Given the description of an element on the screen output the (x, y) to click on. 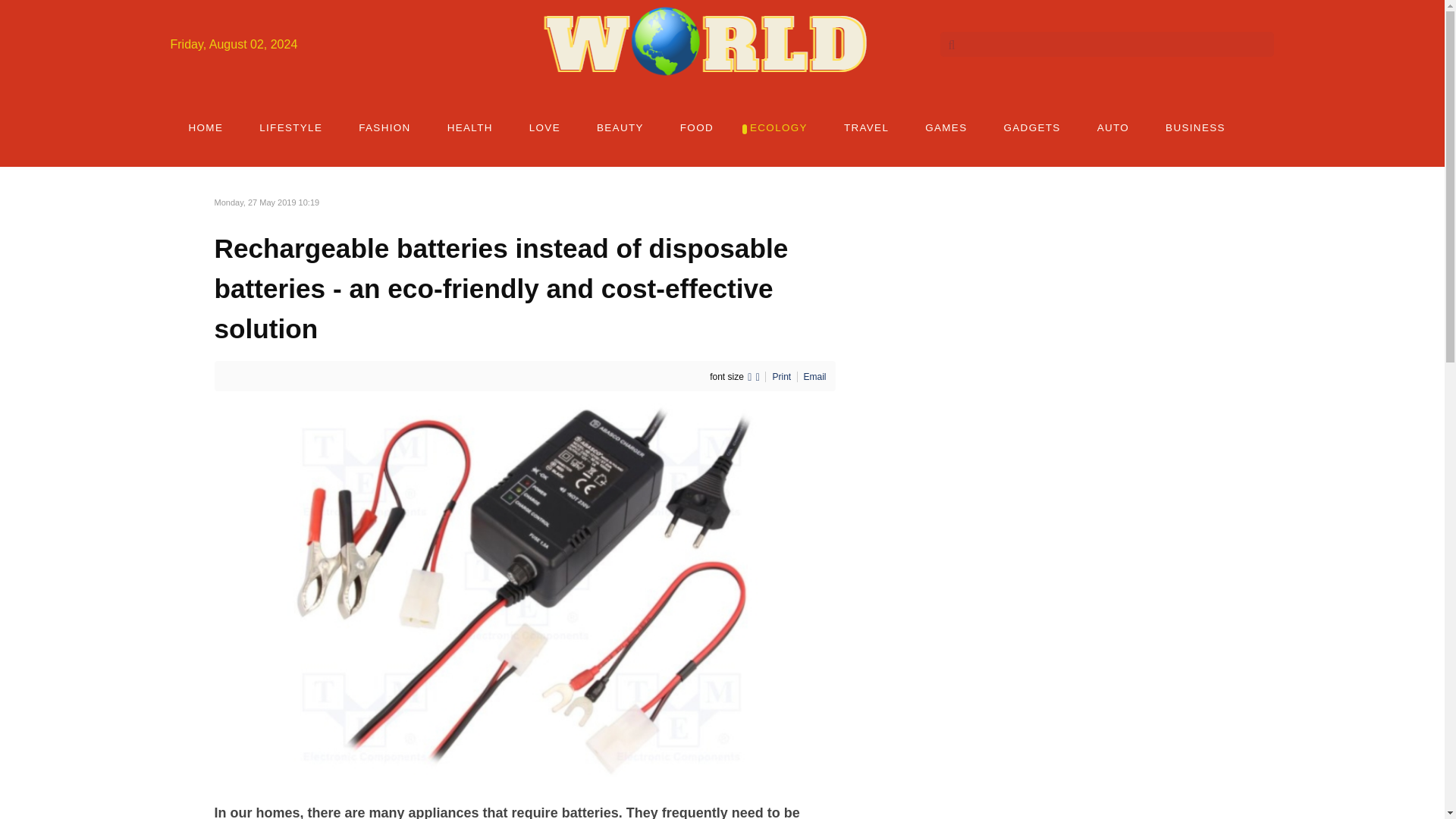
GADGETS (1031, 127)
BUSINESS (1195, 127)
Print (782, 376)
LIFESTYLE (290, 127)
Love - tips for lovers. How to live in a relationship (544, 127)
LOVE (544, 127)
FOOD (697, 127)
Email (815, 376)
HEALTH (470, 127)
ECOLOGY (778, 127)
FASHION (384, 127)
HOME (205, 127)
AUTO (1112, 127)
TRAVEL (866, 127)
BEAUTY (620, 127)
